Given the description of an element on the screen output the (x, y) to click on. 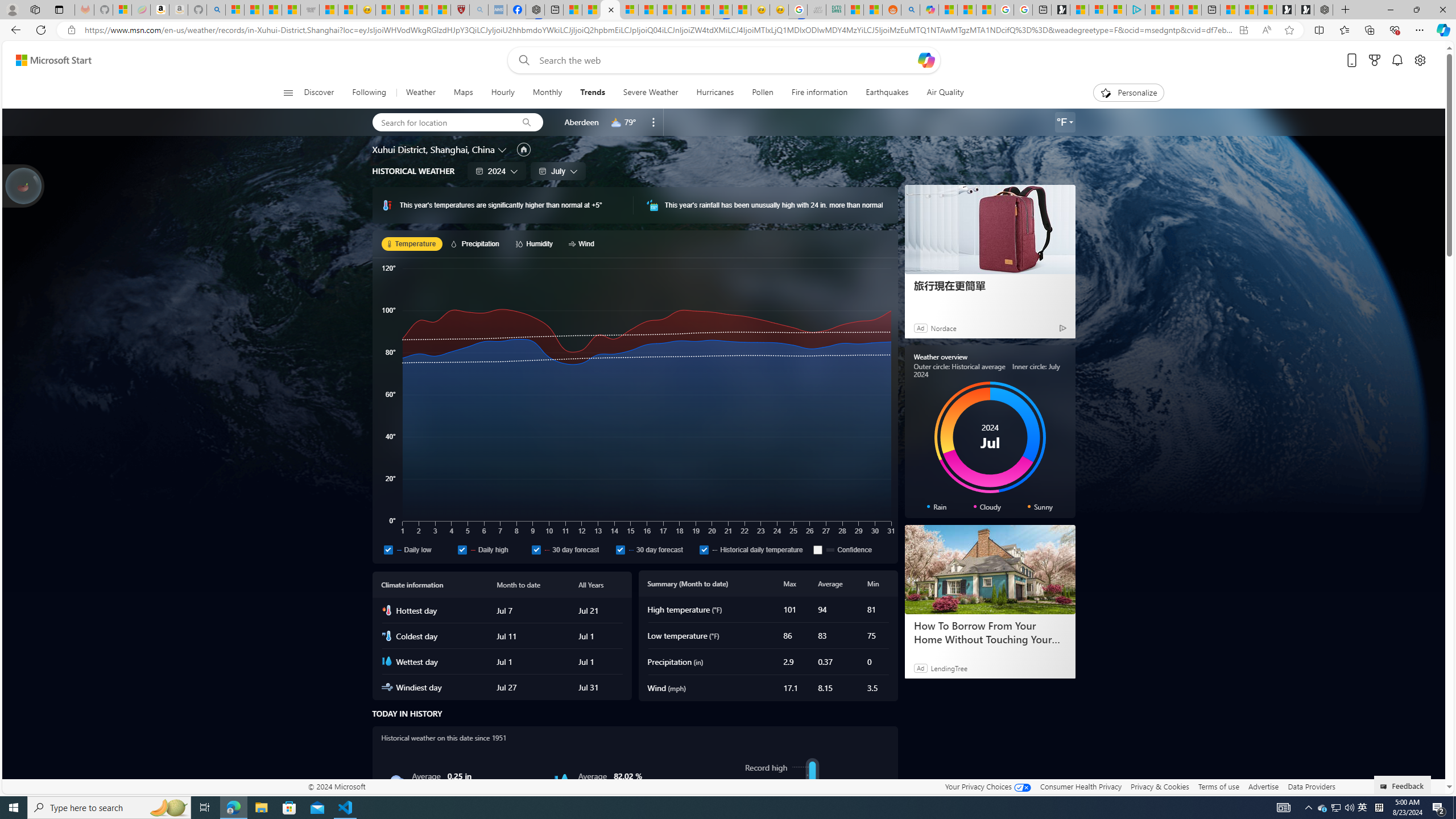
Hurricanes (715, 92)
Trends (592, 92)
Air Quality (940, 92)
Air Quality (944, 92)
